Given the description of an element on the screen output the (x, y) to click on. 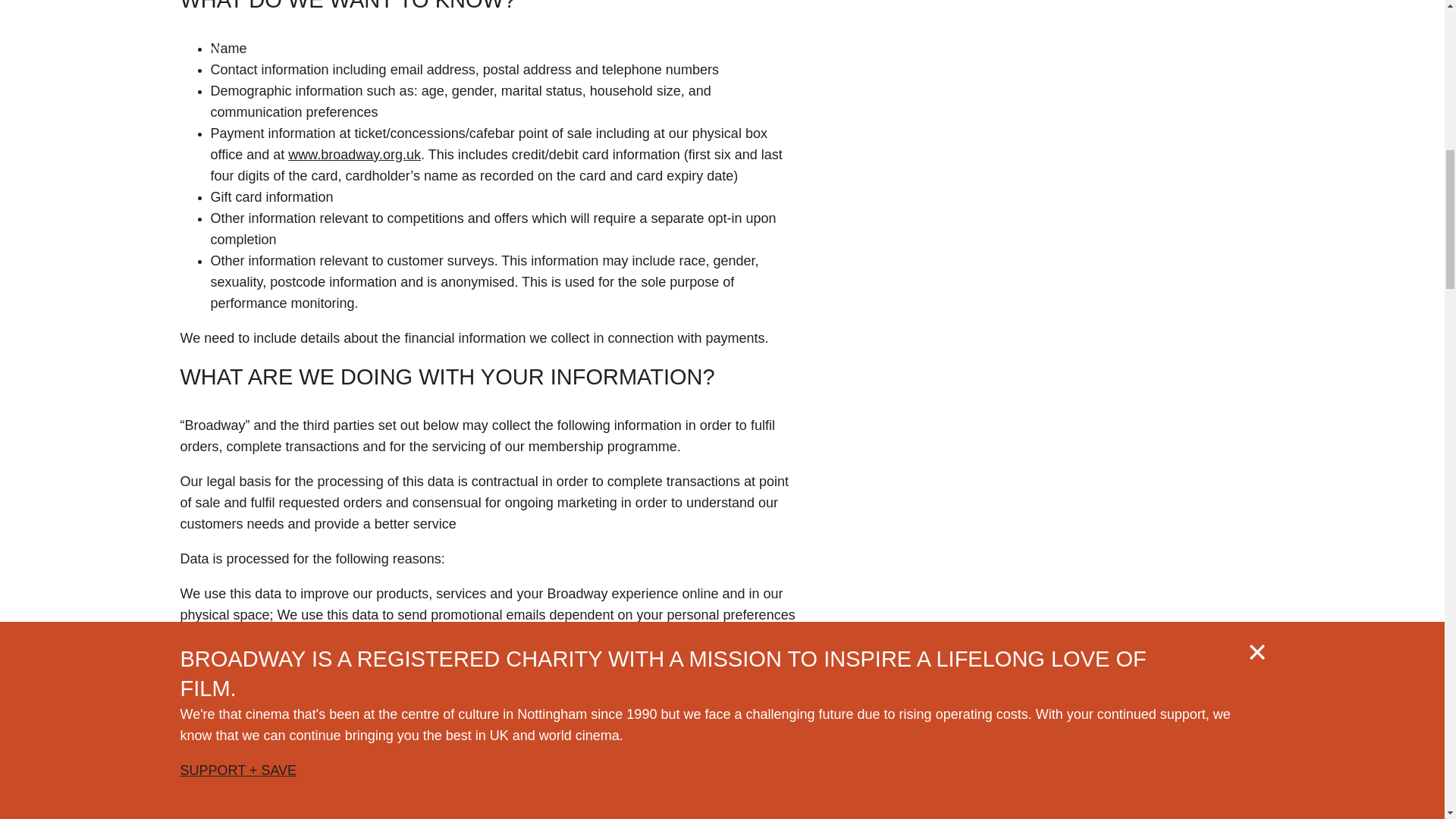
www.broadway.org.uk (354, 154)
